Given the description of an element on the screen output the (x, y) to click on. 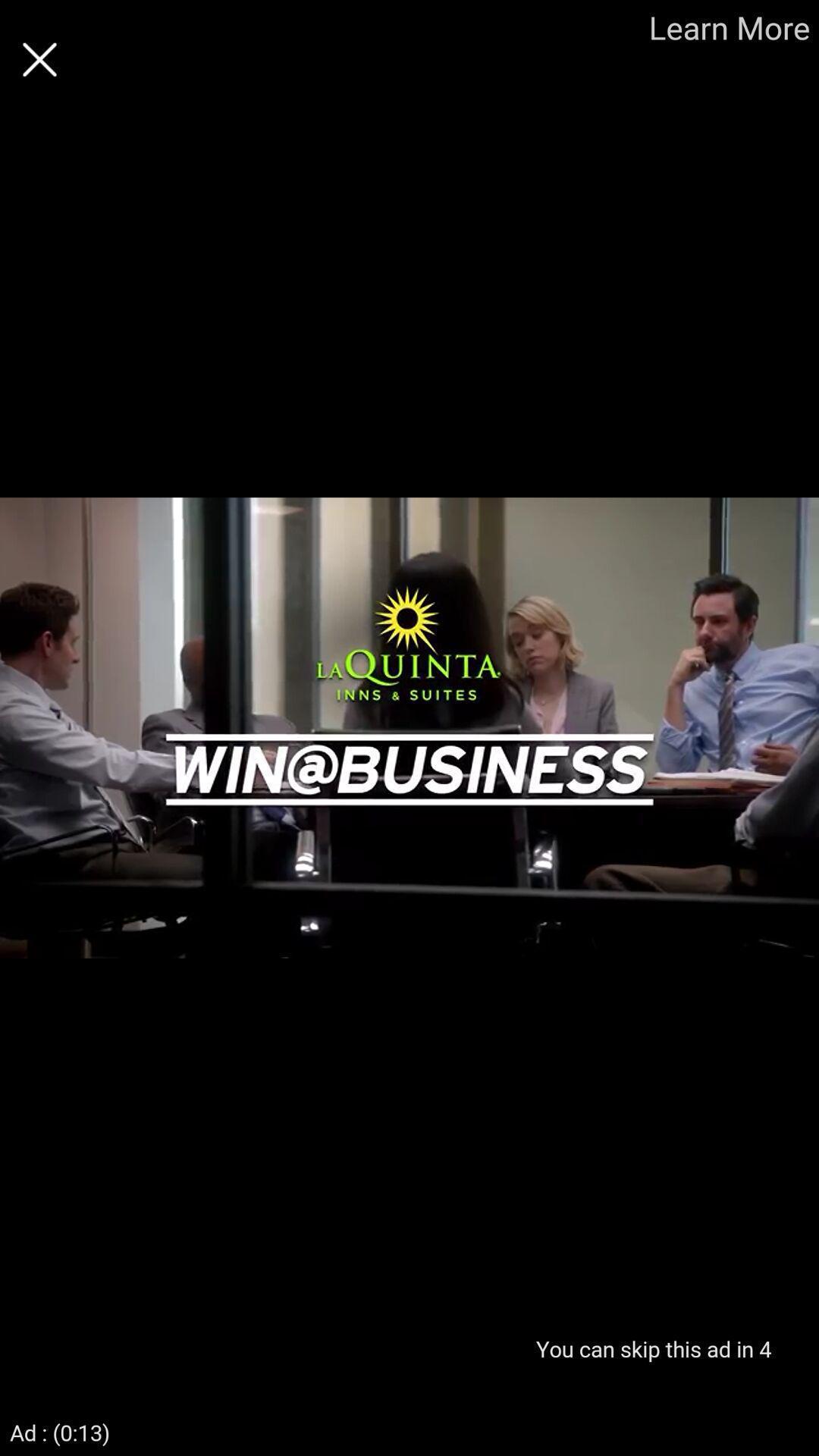
close page (39, 59)
